Given the description of an element on the screen output the (x, y) to click on. 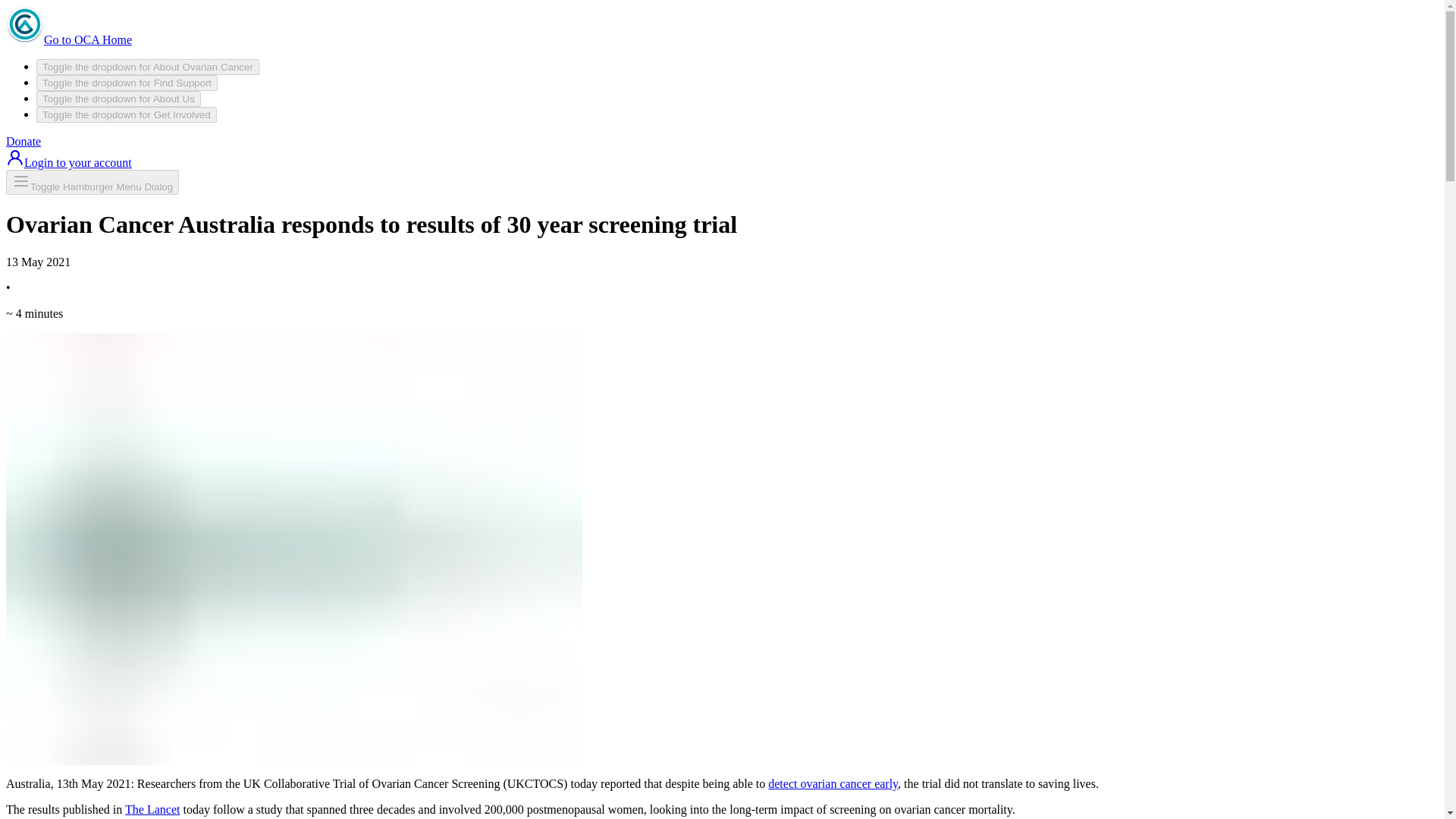
Toggle Hamburger Menu Dialog (92, 181)
Login to your account (68, 162)
Toggle the dropdown for About Us (118, 98)
Go to OCA Home (68, 39)
detect ovarian cancer early (833, 783)
Toggle the dropdown for Get Involved (126, 114)
The Lancet (152, 809)
Donate (22, 141)
Toggle the dropdown for Find Support (126, 82)
Toggle the dropdown for About Ovarian Cancer (147, 66)
